Given the description of an element on the screen output the (x, y) to click on. 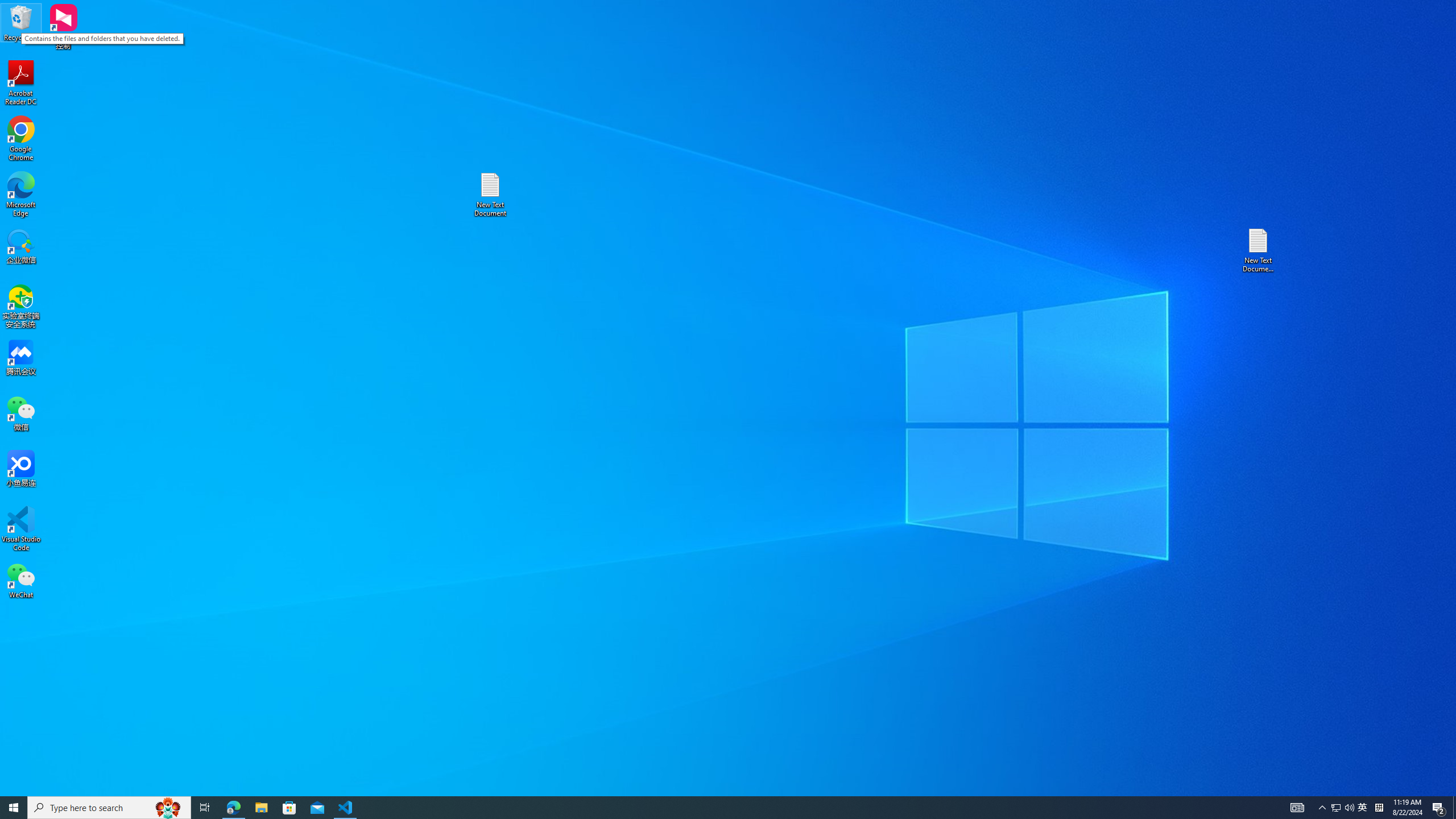
Start (13, 807)
Q2790: 100% (1349, 807)
Visual Studio Code - 1 running window (345, 807)
Search highlights icon opens search home window (167, 807)
Task View (204, 807)
Type here to search (108, 807)
New Text Document (1362, 807)
Notification Chevron (489, 194)
Microsoft Edge (1322, 807)
Action Center, 2 new notifications (21, 194)
WeChat (1439, 807)
